Given the description of an element on the screen output the (x, y) to click on. 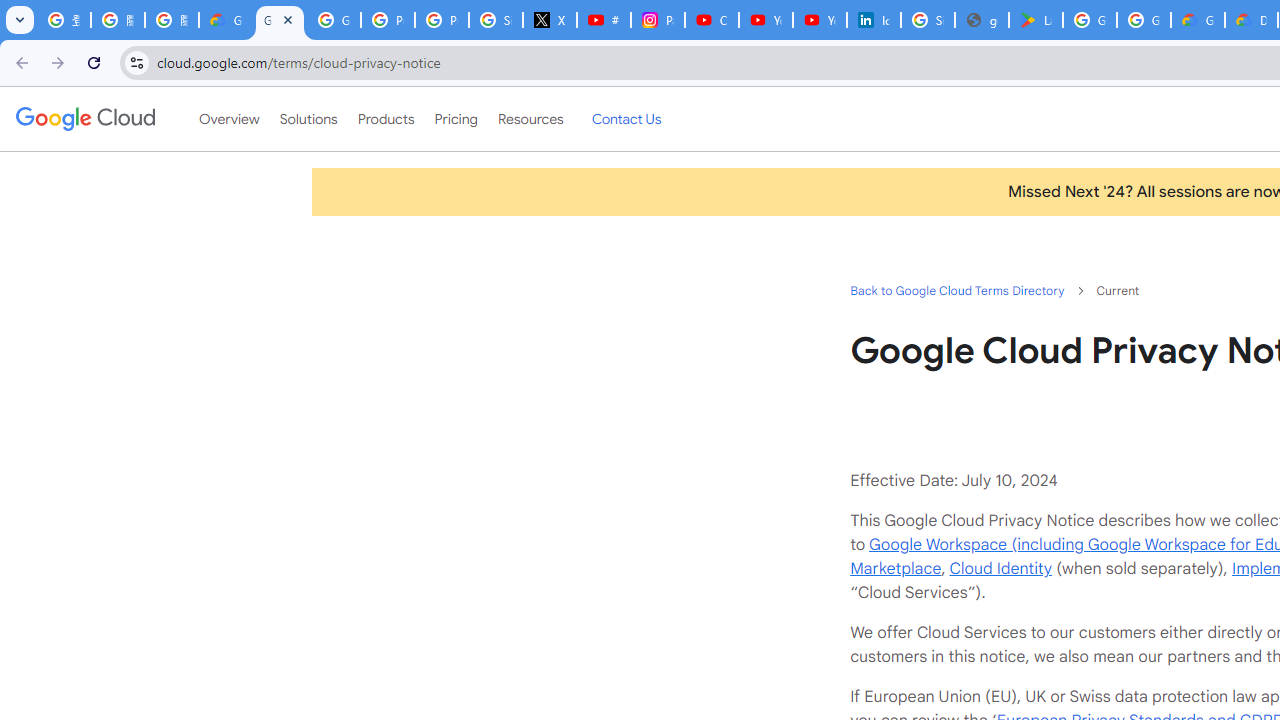
X (550, 20)
Pricing (455, 119)
Solutions (308, 119)
Government | Google Cloud (1197, 20)
Back to Google Cloud Terms Directory (956, 290)
Sign in - Google Accounts (495, 20)
Cloud Identity (1000, 568)
Products (385, 119)
YouTube Culture & Trends - YouTube Top 10, 2021 (819, 20)
